Given the description of an element on the screen output the (x, y) to click on. 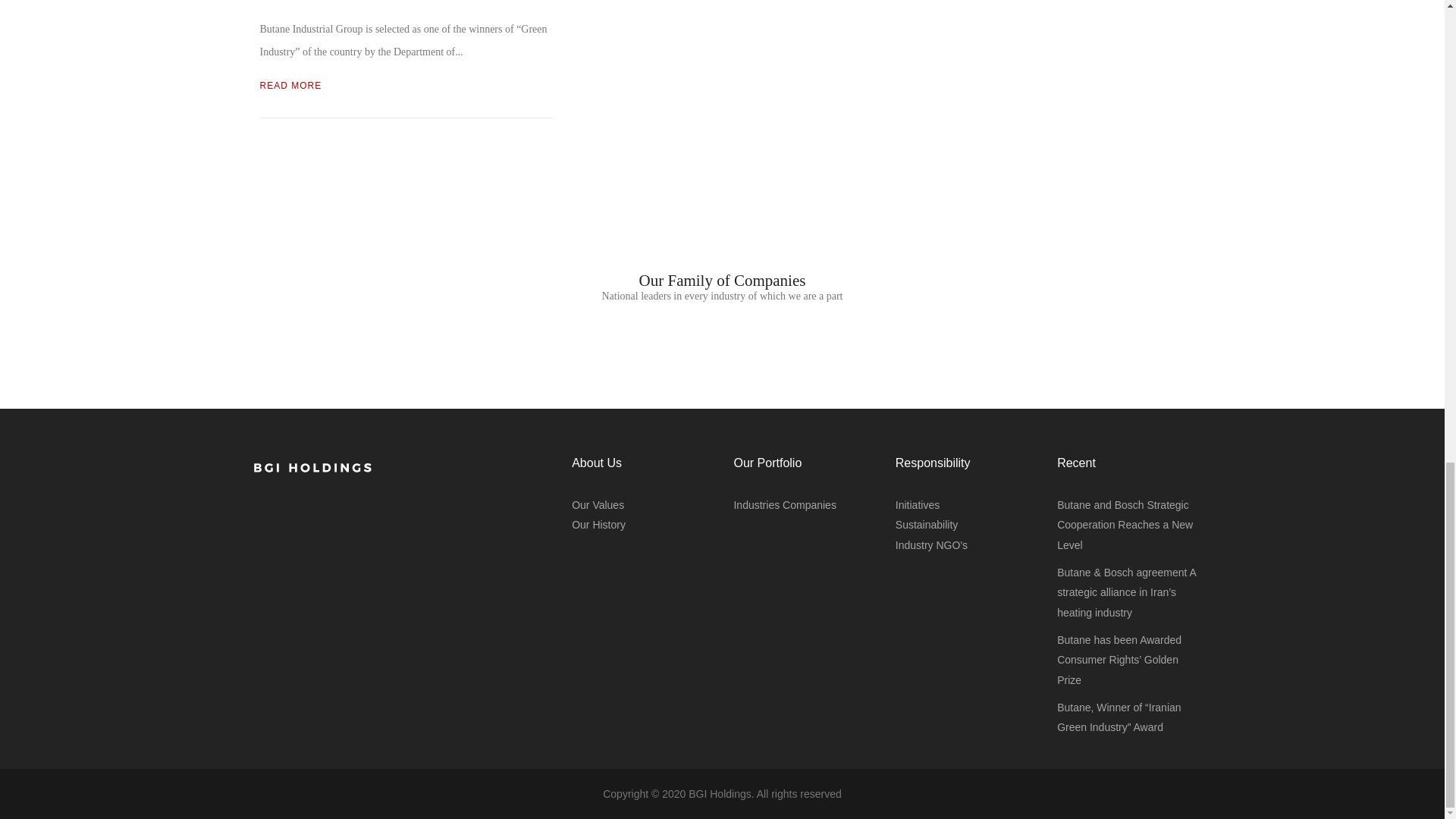
Initiatives (917, 504)
READ MORE (290, 85)
Industries (755, 504)
Companies (809, 504)
Our History (599, 524)
Our Values (598, 504)
